Given the description of an element on the screen output the (x, y) to click on. 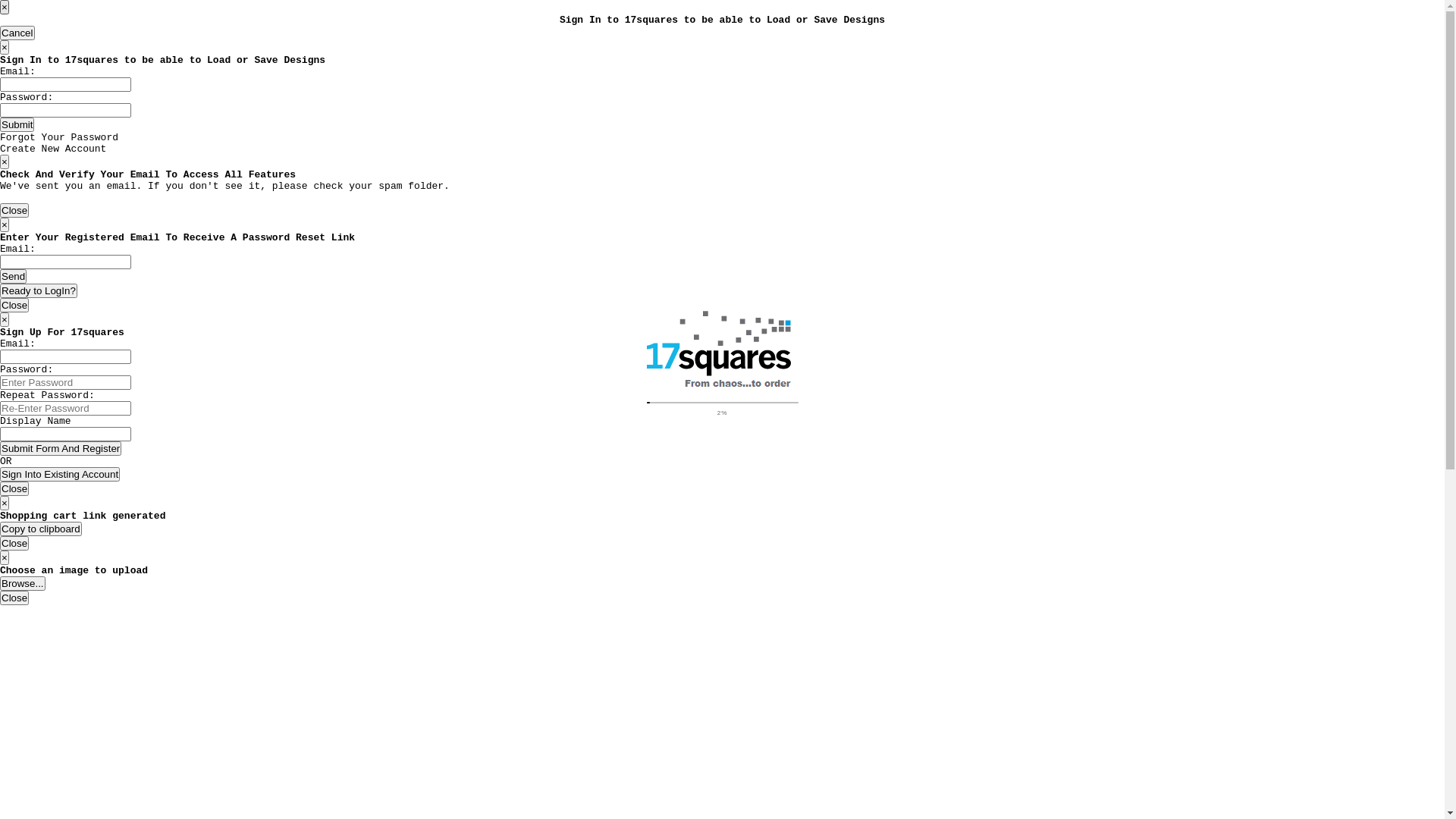
Browse... Element type: text (22, 583)
Close Element type: text (14, 597)
Copy to clipboard Element type: text (40, 528)
Ready to LogIn? Element type: text (38, 290)
Forgot Your Password Element type: text (59, 137)
Close Element type: text (14, 210)
Close Element type: text (14, 305)
Cancel Element type: text (17, 32)
Close Element type: text (14, 543)
Sign Into Existing Account Element type: text (59, 474)
Close Element type: text (14, 488)
Create New Account Element type: text (53, 148)
Send Element type: text (13, 276)
Submit Form And Register Element type: text (60, 448)
Submit Element type: text (17, 124)
